Given the description of an element on the screen output the (x, y) to click on. 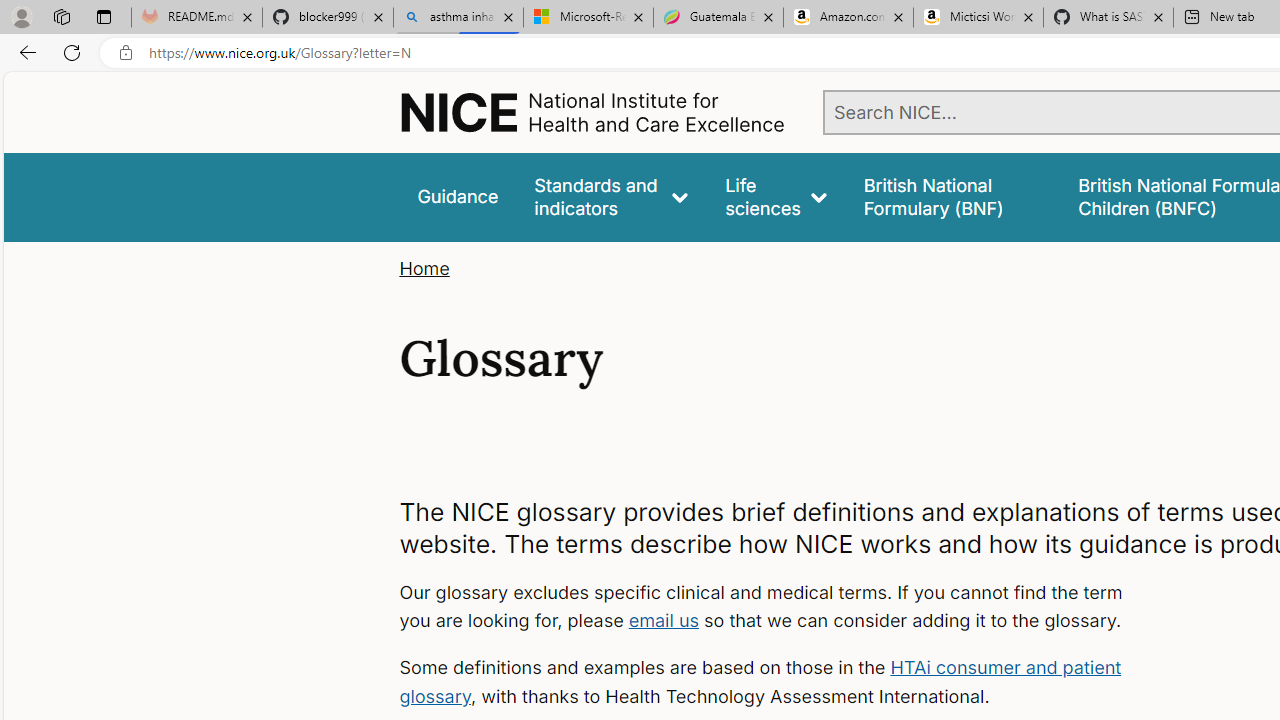
Close tab (1158, 16)
Guidance (458, 196)
Refresh (72, 52)
View site information (125, 53)
Back (24, 52)
Life sciences (776, 196)
Personal Profile (21, 16)
HTAi consumer and patient glossary (760, 681)
